Given the description of an element on the screen output the (x, y) to click on. 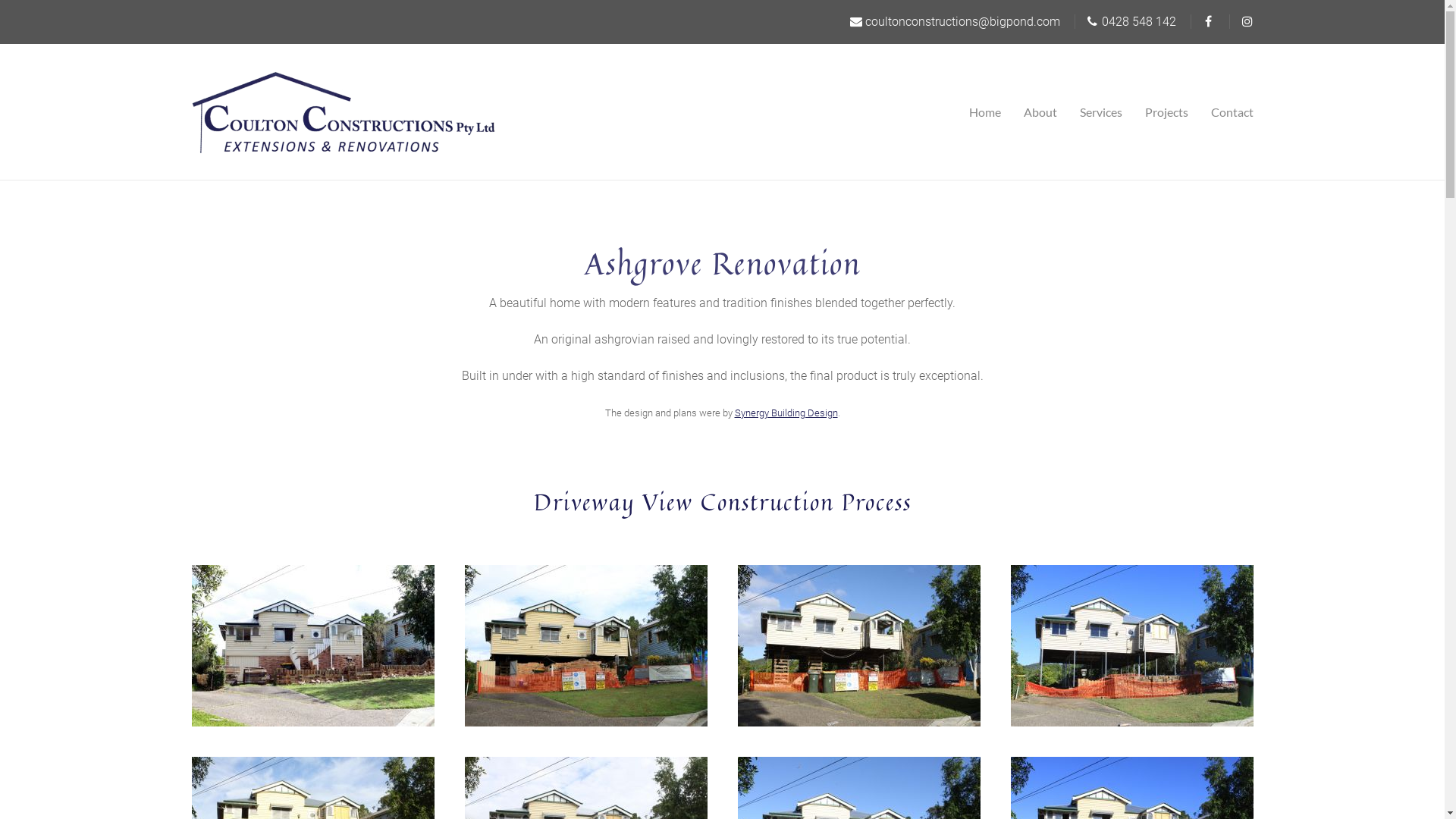
Synergy Building Design Element type: text (785, 412)
Services Element type: text (1099, 111)
Contact Element type: text (1226, 111)
Projects Element type: text (1165, 111)
Home Element type: text (990, 111)
coultonconstructions@bigpond.com Element type: text (954, 21)
About Element type: text (1039, 111)
